Given the description of an element on the screen output the (x, y) to click on. 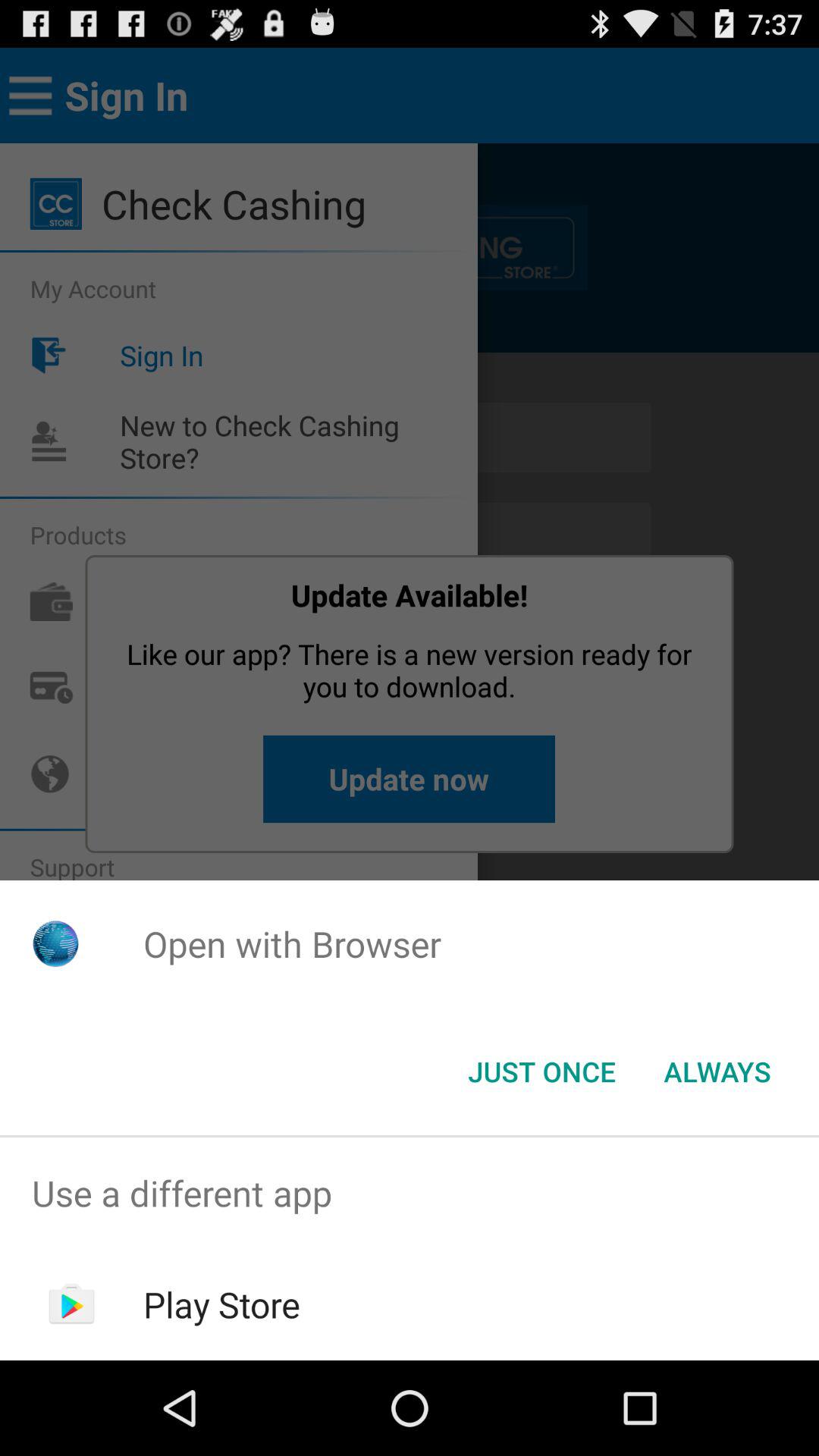
tap play store icon (221, 1304)
